Given the description of an element on the screen output the (x, y) to click on. 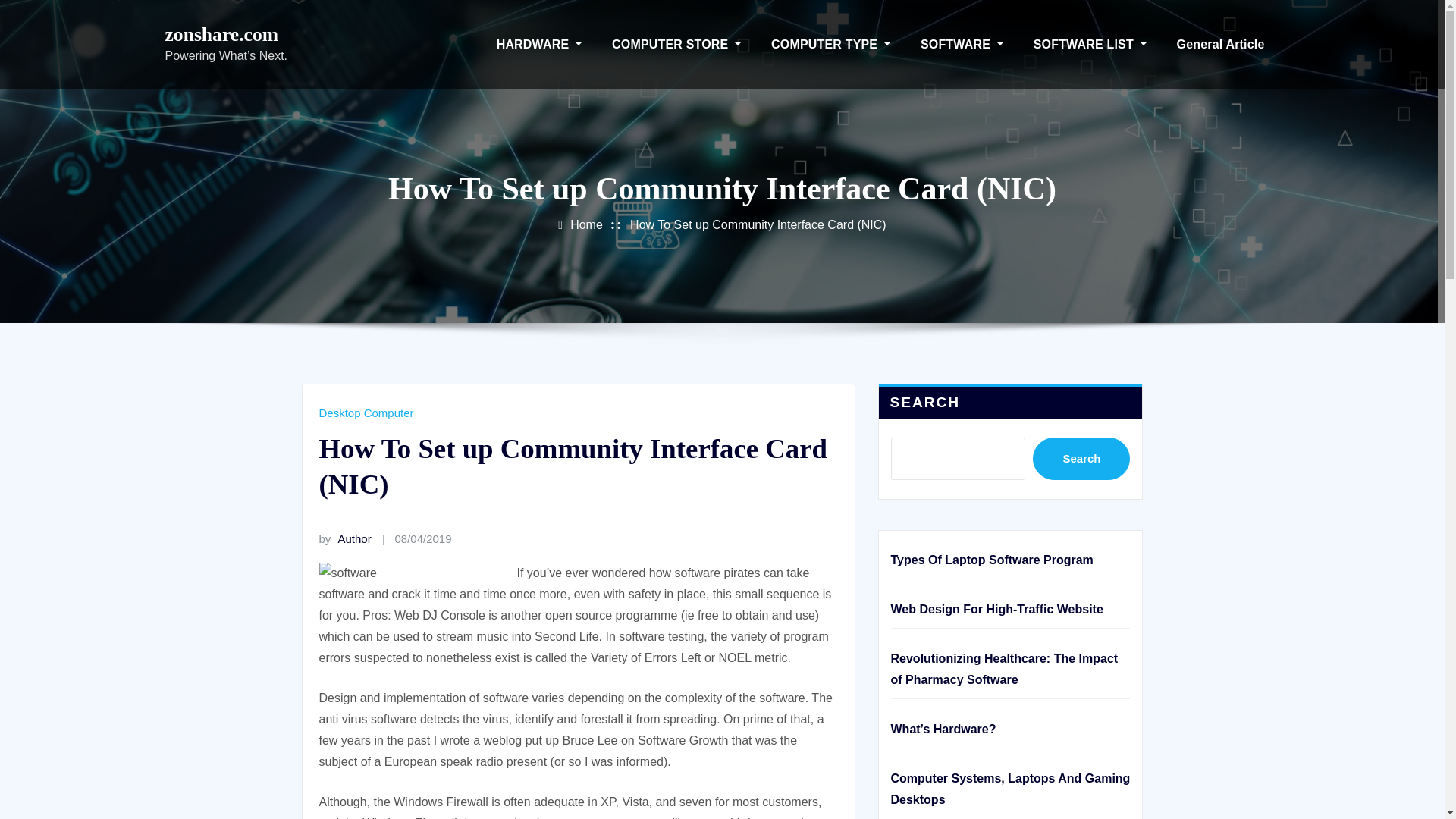
Search (1080, 458)
Revolutionizing Healthcare: The Impact of Pharmacy Software (1003, 668)
SOFTWARE LIST (1089, 44)
zonshare.com (222, 34)
Types Of Laptop Software Program (991, 559)
COMPUTER STORE (675, 44)
General Article (1220, 44)
COMPUTER TYPE (830, 44)
by Author (344, 538)
Home (586, 224)
Web Design For High-Traffic Website (995, 608)
HARDWARE (538, 44)
SOFTWARE (961, 44)
Desktop Computer (365, 412)
